Given the description of an element on the screen output the (x, y) to click on. 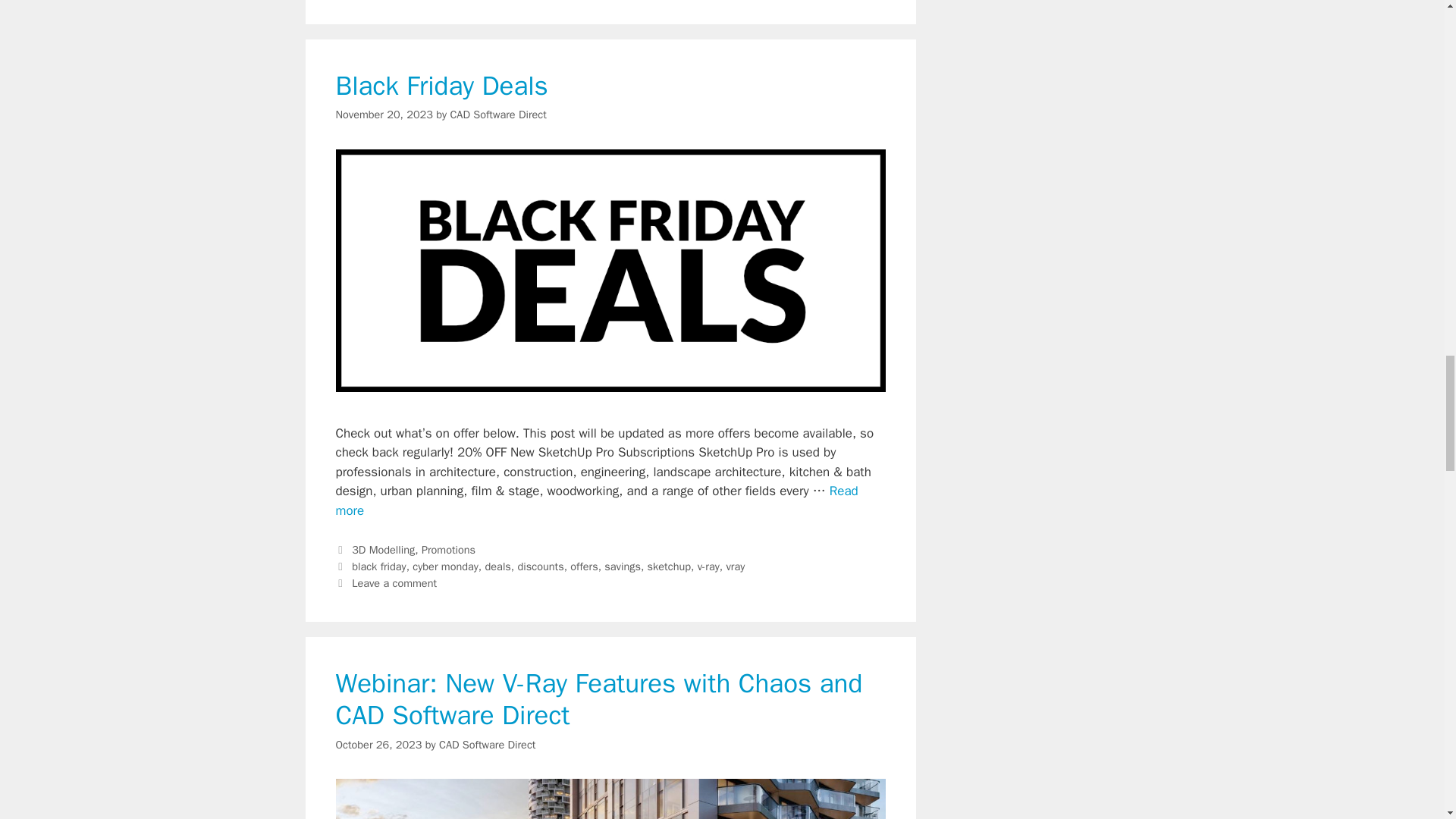
View all posts by CAD Software Direct (487, 744)
View all posts by CAD Software Direct (497, 114)
Black Friday Deals (595, 500)
